Given the description of an element on the screen output the (x, y) to click on. 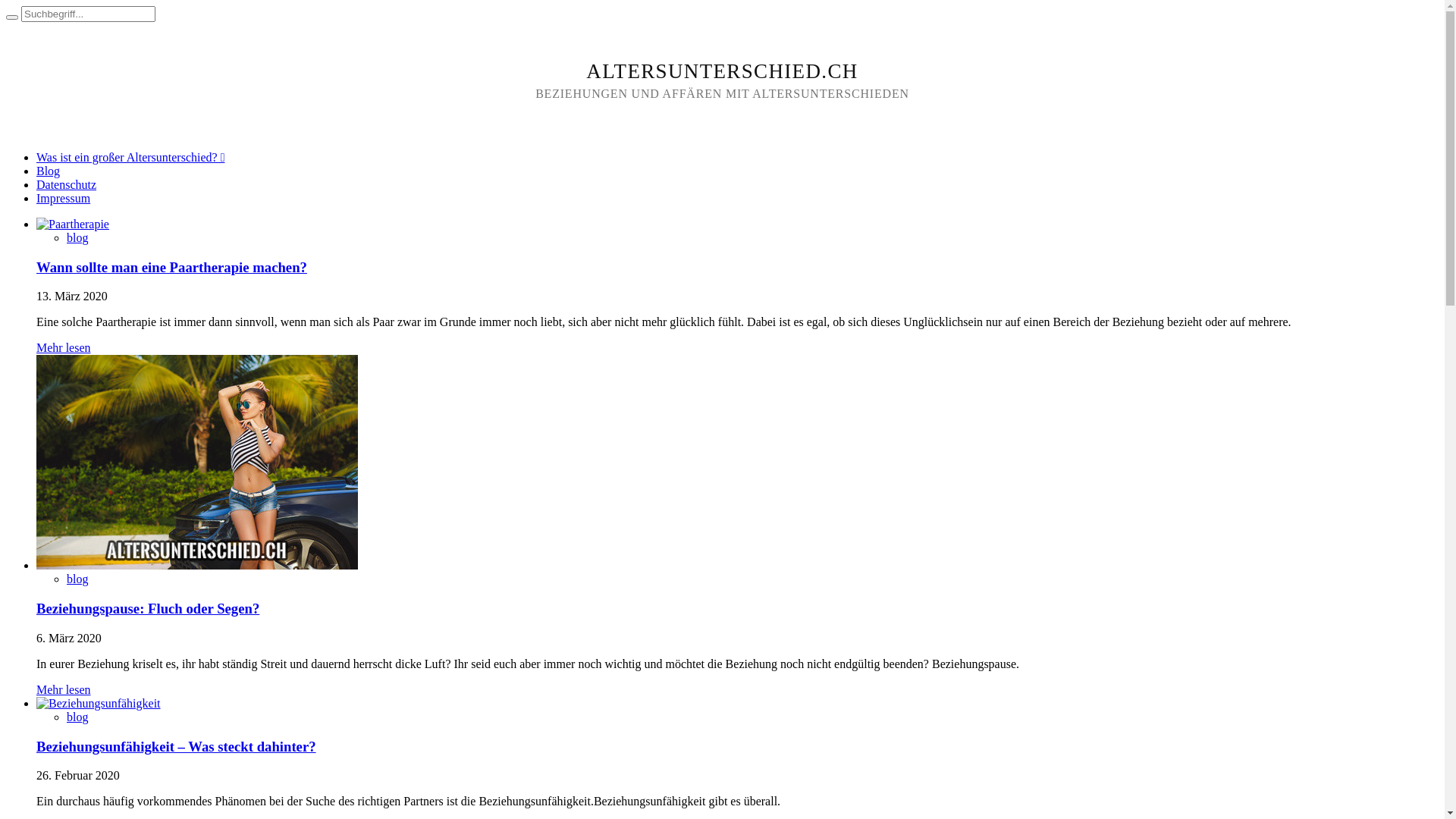
Beziehungspause: Fluch oder Segen? Element type: text (147, 608)
blog Element type: text (76, 578)
blog Element type: text (76, 716)
Wann sollte man eine Paartherapie machen? Element type: text (171, 267)
Blog Element type: text (47, 170)
Mehr lesen Element type: text (63, 347)
blog Element type: text (76, 237)
Impressum Element type: text (63, 197)
Mehr lesen Element type: text (63, 689)
Datenschutz Element type: text (66, 184)
